Given the description of an element on the screen output the (x, y) to click on. 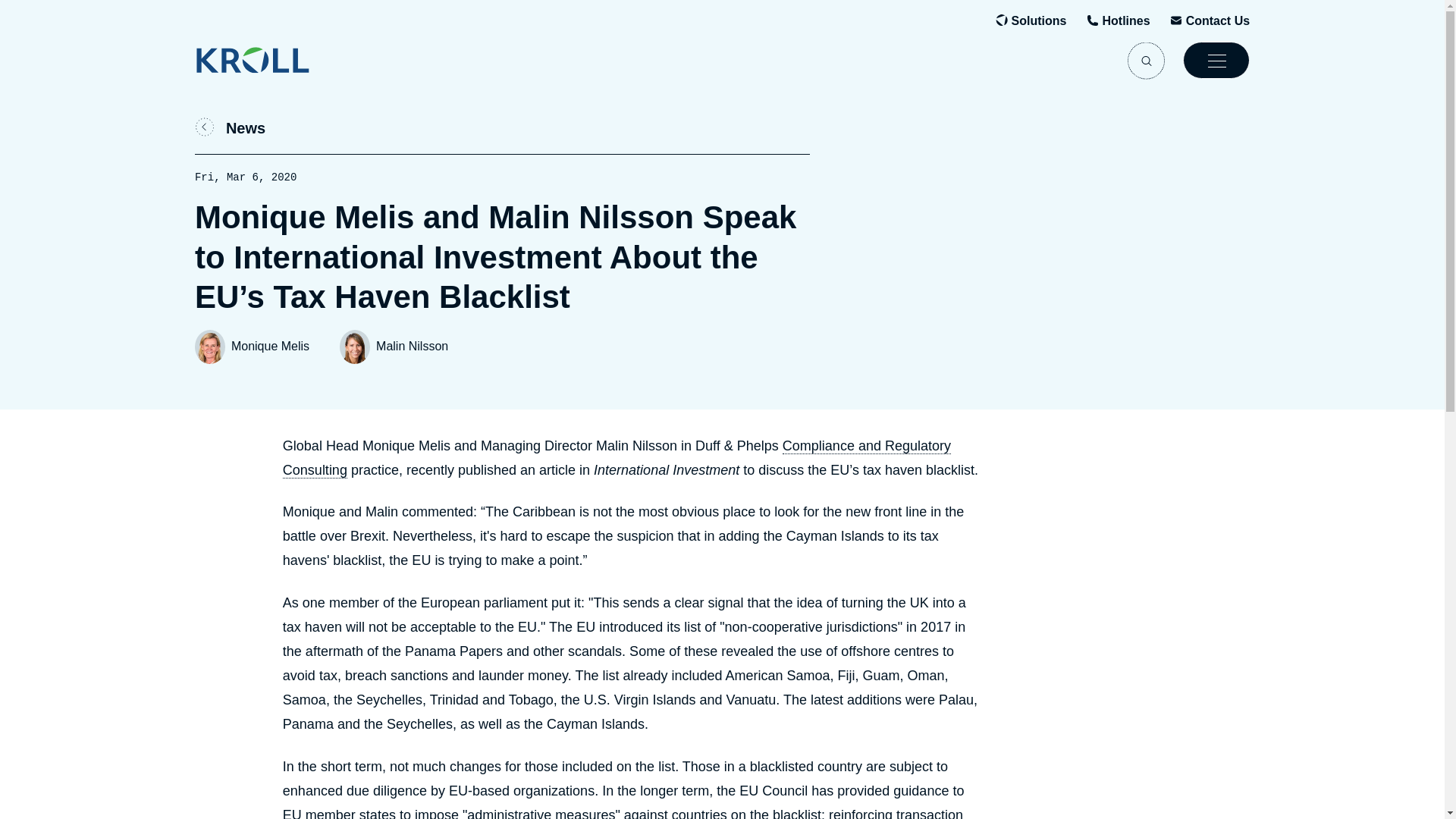
Burger-Icon (1215, 59)
Solutions (1039, 21)
Kroll-Logo (283, 59)
Hotlines (1126, 21)
search (1145, 59)
dropdown (1215, 59)
Our Capabilities (1039, 21)
Contact Us (1217, 21)
Search-Icon (1145, 59)
Send Message (1217, 21)
